Given the description of an element on the screen output the (x, y) to click on. 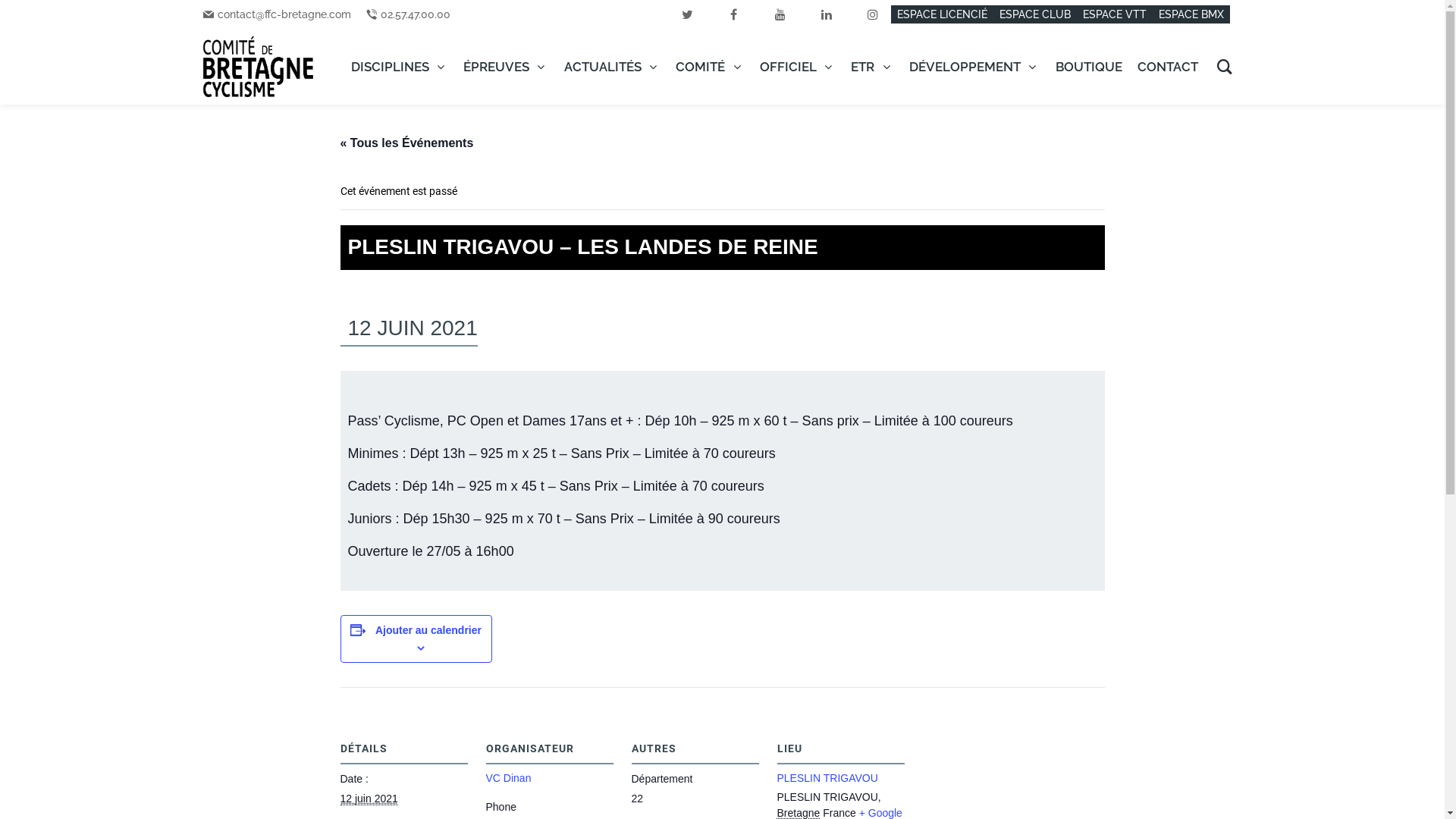
OFFICIEL Element type: text (798, 66)
ETR Element type: text (872, 66)
contact@ffc-bretagne.com Element type: text (283, 14)
ESPACE CLUB Element type: text (1034, 14)
VC Dinan Element type: text (507, 777)
PLESLIN TRIGAVOU Element type: text (826, 777)
ESPACE BMX Element type: text (1191, 14)
ESPACE VTT Element type: text (1114, 14)
Ajouter au calendrier Element type: text (428, 630)
BOUTIQUE Element type: text (1088, 66)
02.57.47.00.00 Element type: text (415, 14)
CONTACT Element type: text (1167, 66)
DISCIPLINES Element type: text (399, 66)
